Given the description of an element on the screen output the (x, y) to click on. 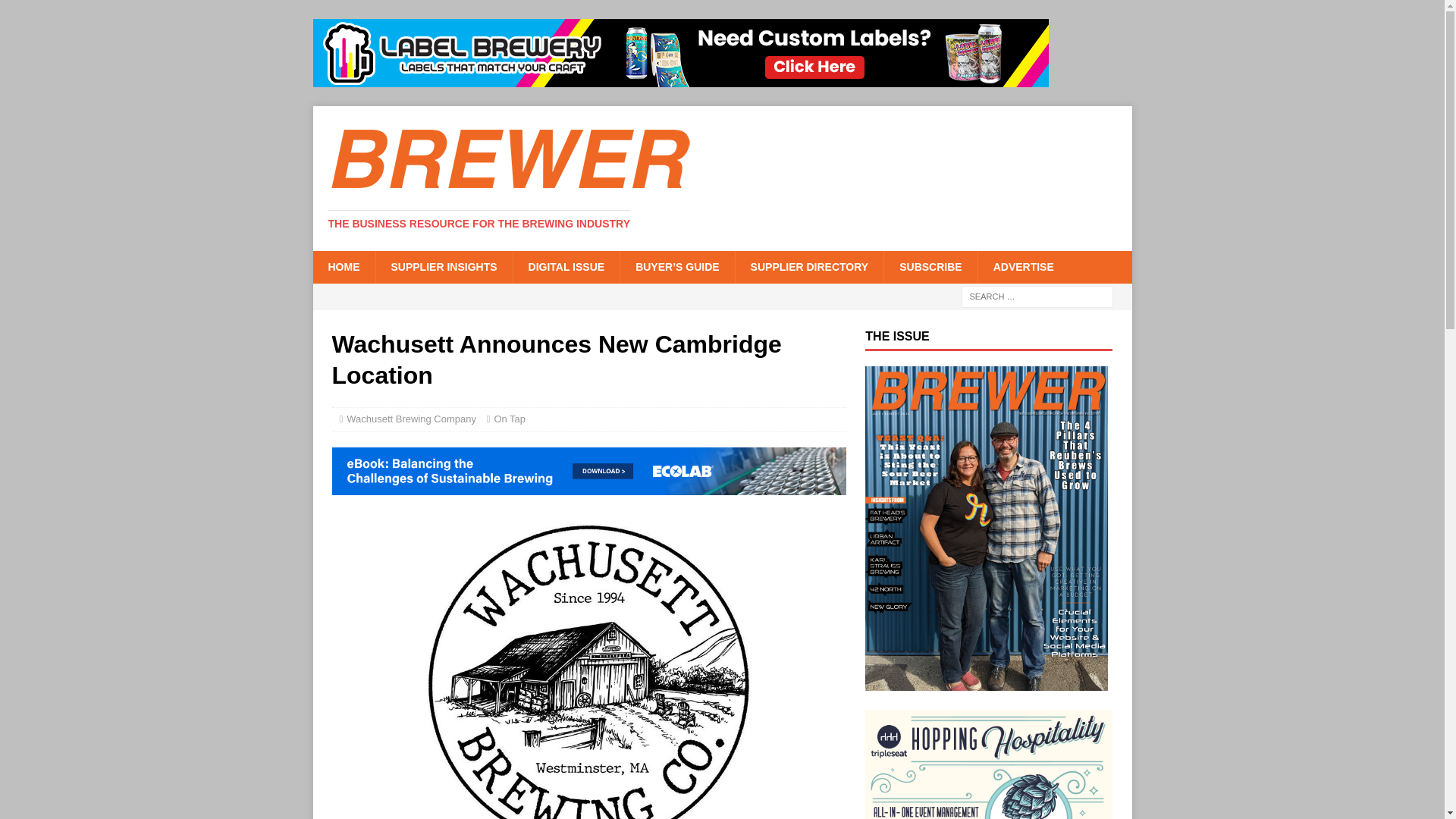
DIGITAL ISSUE (566, 266)
SUPPLIER DIRECTORY (809, 266)
ADVERTISE (1022, 266)
SUPPLIER INSIGHTS (443, 266)
On Tap (509, 419)
Search (56, 11)
Wachusett Brewing Company (411, 419)
HOME (343, 266)
SUBSCRIBE (929, 266)
